Given the description of an element on the screen output the (x, y) to click on. 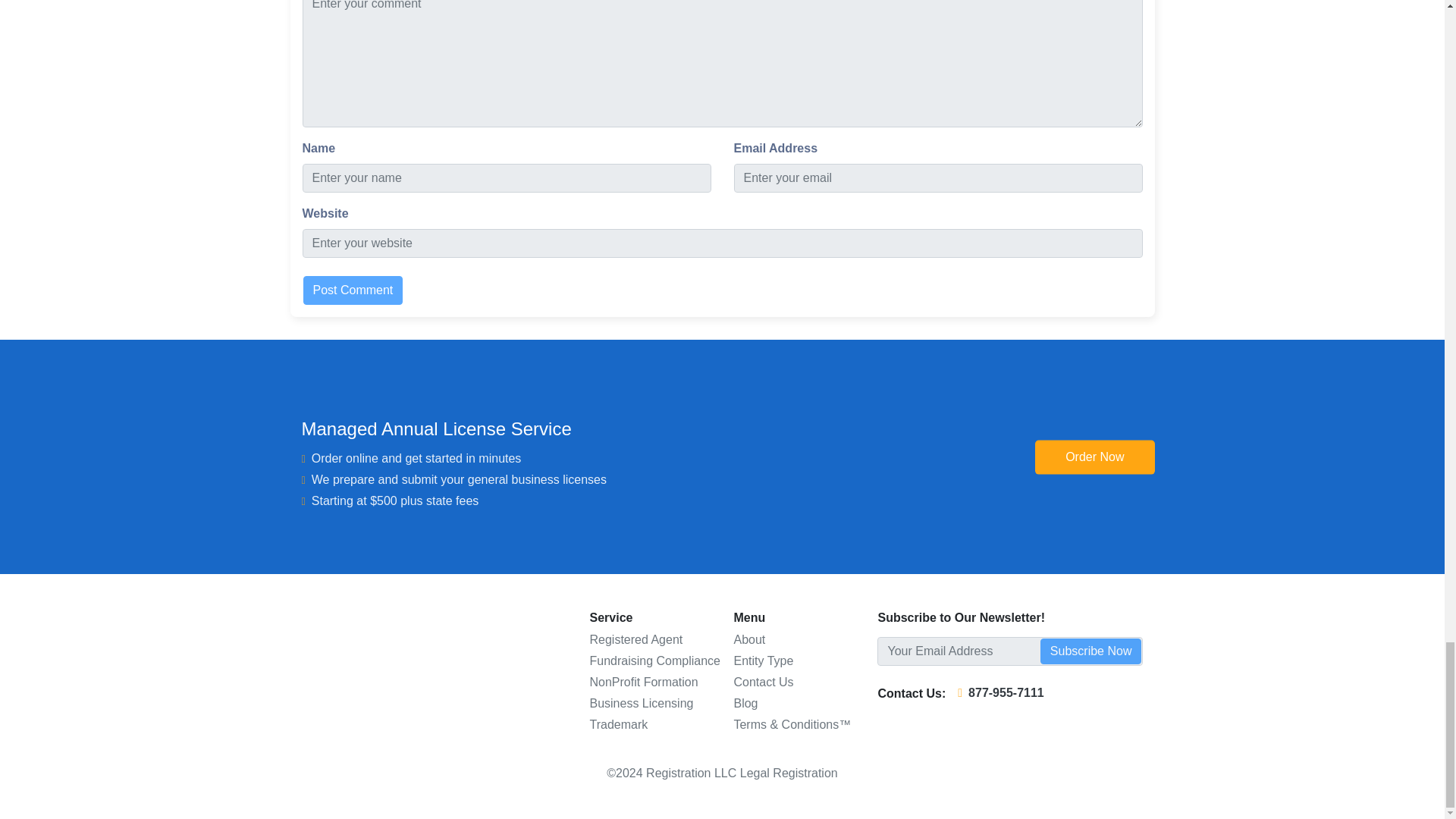
Subscribe Now (1091, 651)
Entity Type (763, 660)
NonProfit Formation (643, 681)
Fundraising Compliance (654, 660)
Registered Agent (635, 639)
Business Licensing (641, 703)
Order Now (1094, 456)
Post Comment (352, 290)
About (749, 639)
Trademark (618, 724)
